Given the description of an element on the screen output the (x, y) to click on. 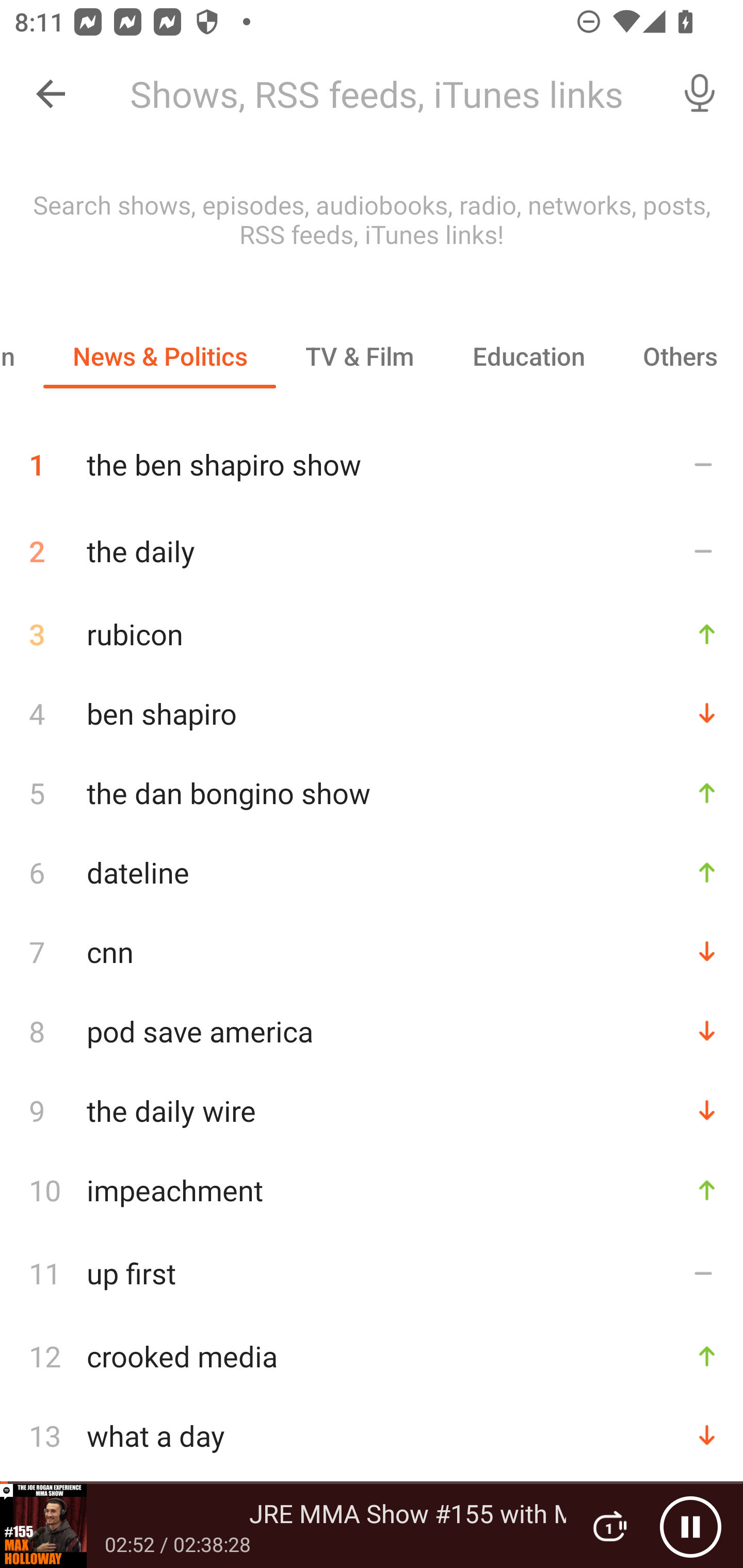
Collapse (50, 93)
Voice Search (699, 93)
Shows, RSS feeds, iTunes links (385, 94)
News & Politics (159, 355)
TV & Film (359, 355)
Education (528, 355)
Others (678, 355)
1 the ben shapiro show (371, 457)
2 the daily (371, 551)
3 rubicon (371, 634)
4 ben shapiro (371, 713)
5 the dan bongino show (371, 792)
6 dateline (371, 872)
7 cnn (371, 951)
8 pod save america (371, 1030)
9 the daily wire (371, 1110)
10 impeachment (371, 1189)
11 up first (371, 1272)
12 crooked media (371, 1355)
13 what a day (371, 1435)
